Given the description of an element on the screen output the (x, y) to click on. 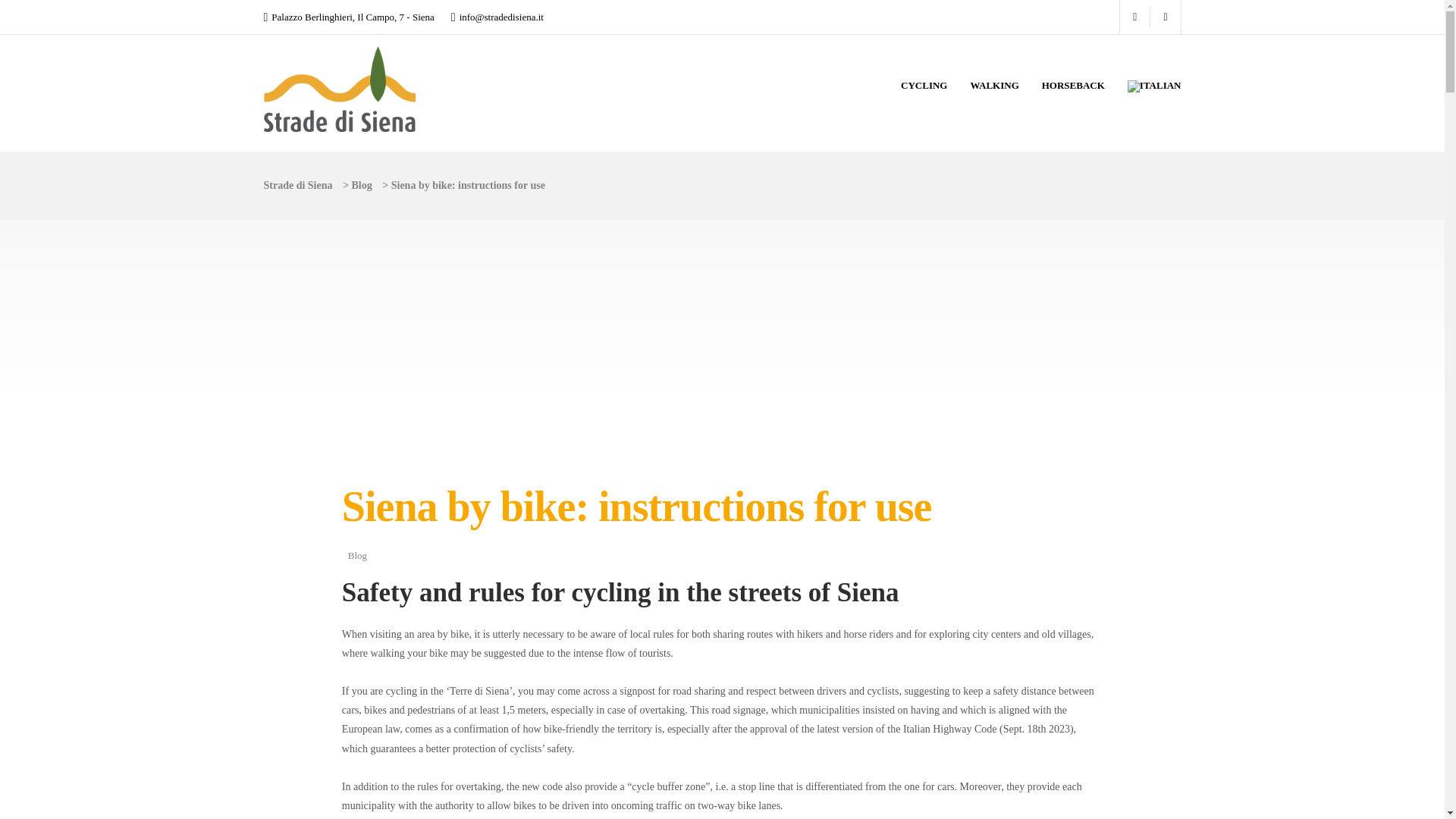
Go to the Blog Category archives. (362, 184)
Go to Strade di Siena. (298, 184)
Strade di Siena (298, 184)
Blog (362, 184)
Blog (356, 555)
